Given the description of an element on the screen output the (x, y) to click on. 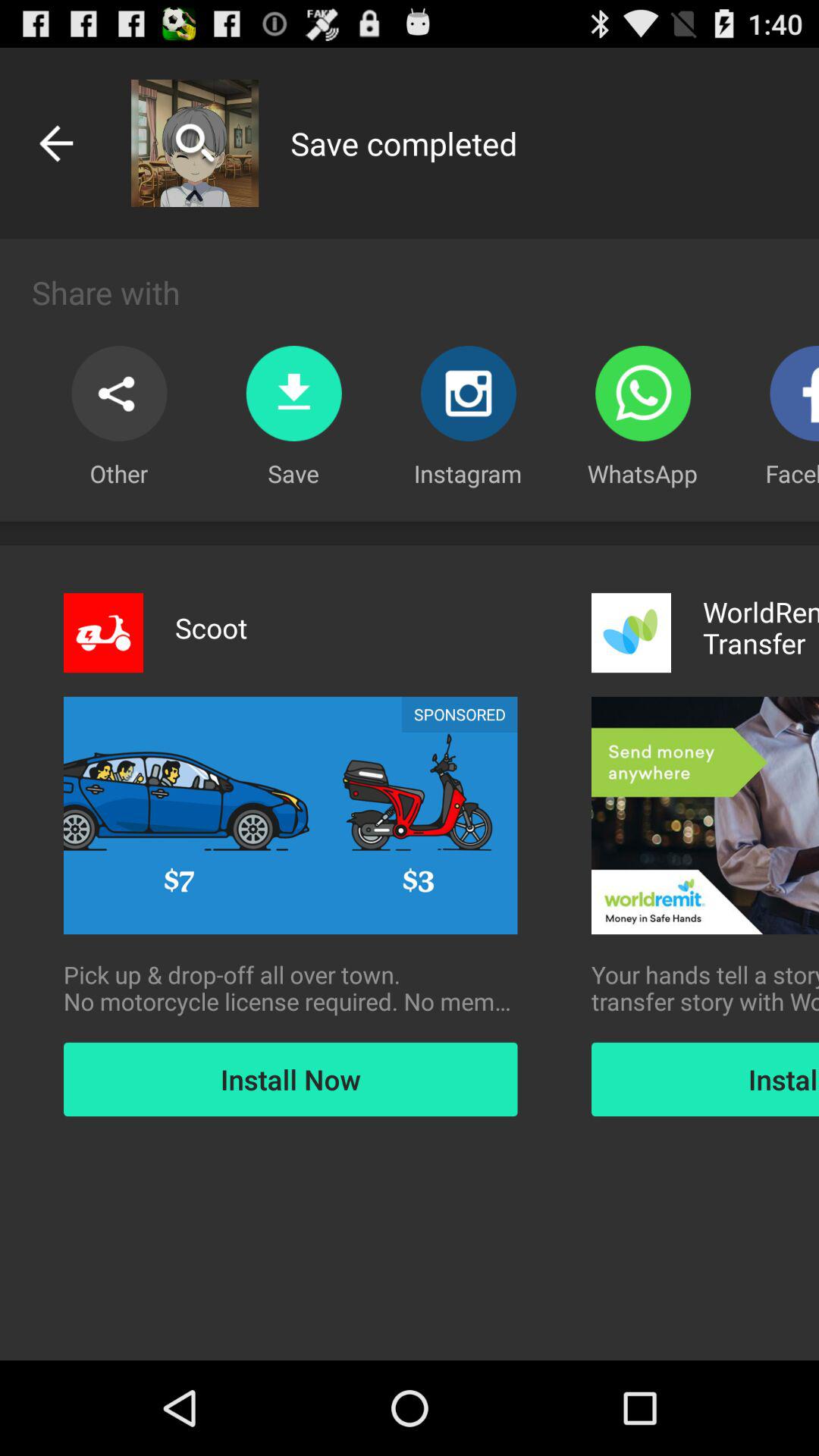
launch item to the right of the pick up drop icon (705, 988)
